Given the description of an element on the screen output the (x, y) to click on. 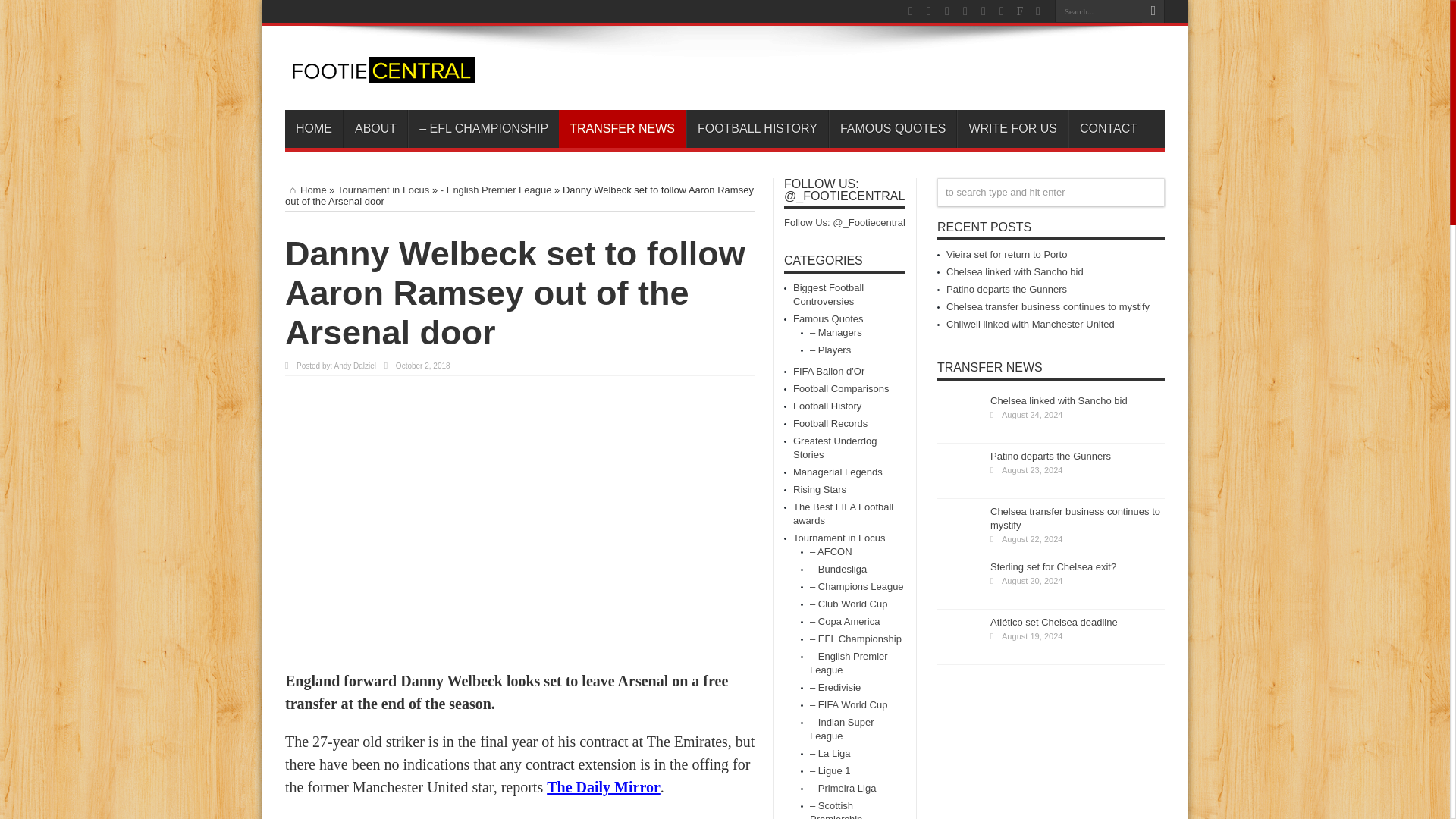
Tournament in Focus (383, 189)
Home (305, 189)
FAMOUS QUOTES (892, 128)
FOOTBALL HISTORY (756, 128)
Search... (1097, 11)
to search type and hit enter (1050, 192)
Andy Dalziel (354, 365)
- English Premier League (496, 189)
Search (1152, 11)
WRITE FOR US (1011, 128)
